Given the description of an element on the screen output the (x, y) to click on. 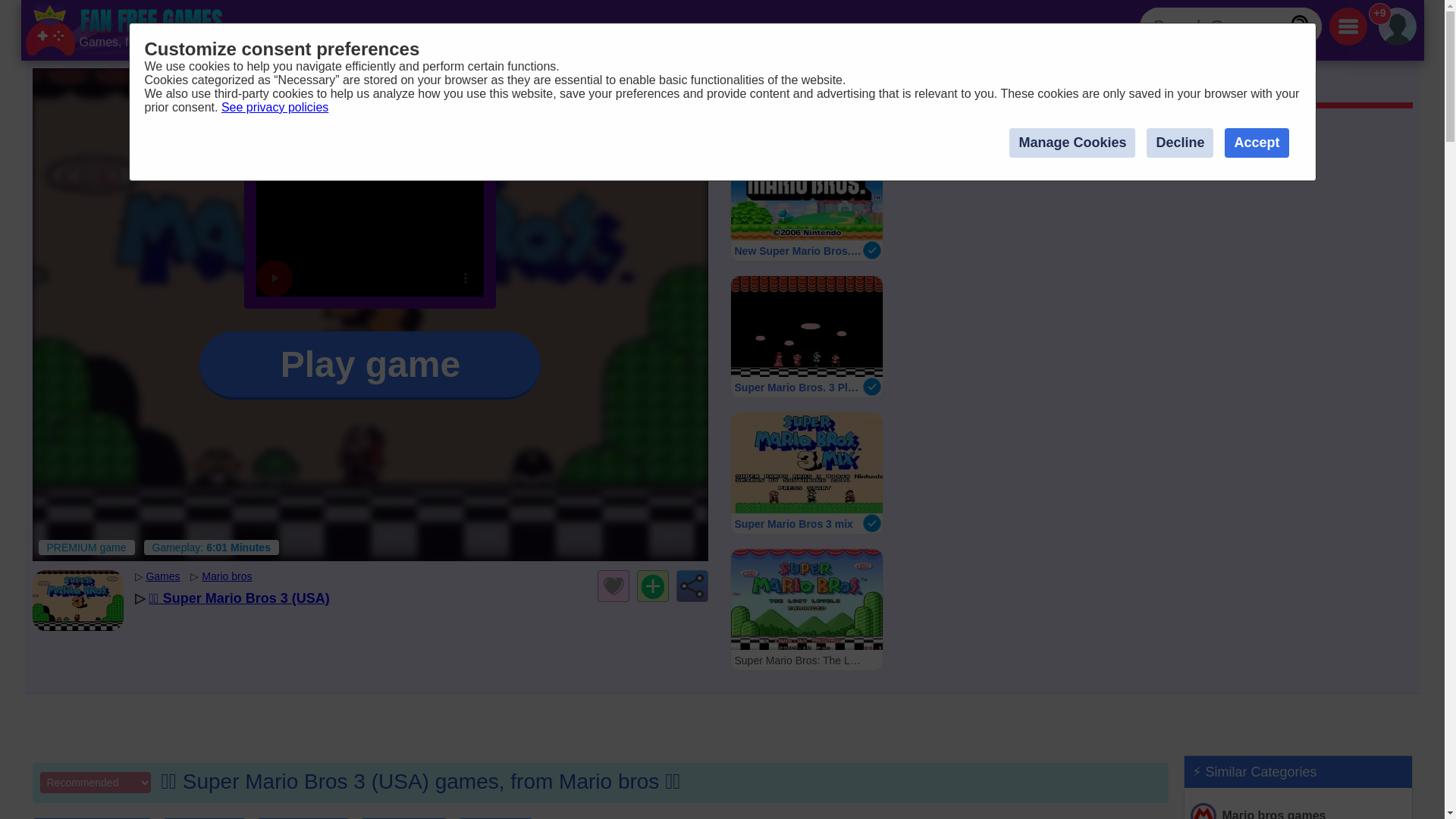
Super Mario Bros. 3 Plus Beta 1.0 (805, 336)
Accept (1256, 142)
Games (756, 87)
Manage Cookies (1072, 142)
Games (162, 576)
Games, www.fanfreegames.com (126, 30)
See privacy policies (275, 106)
Mario bros games (1298, 809)
Mario bros (854, 87)
Play game (226, 576)
Super Mario Bros: The Lost Levels (369, 365)
Super Mario Bros. 3 Plus Beta 1.0 (805, 608)
Decline (805, 336)
